Given the description of an element on the screen output the (x, y) to click on. 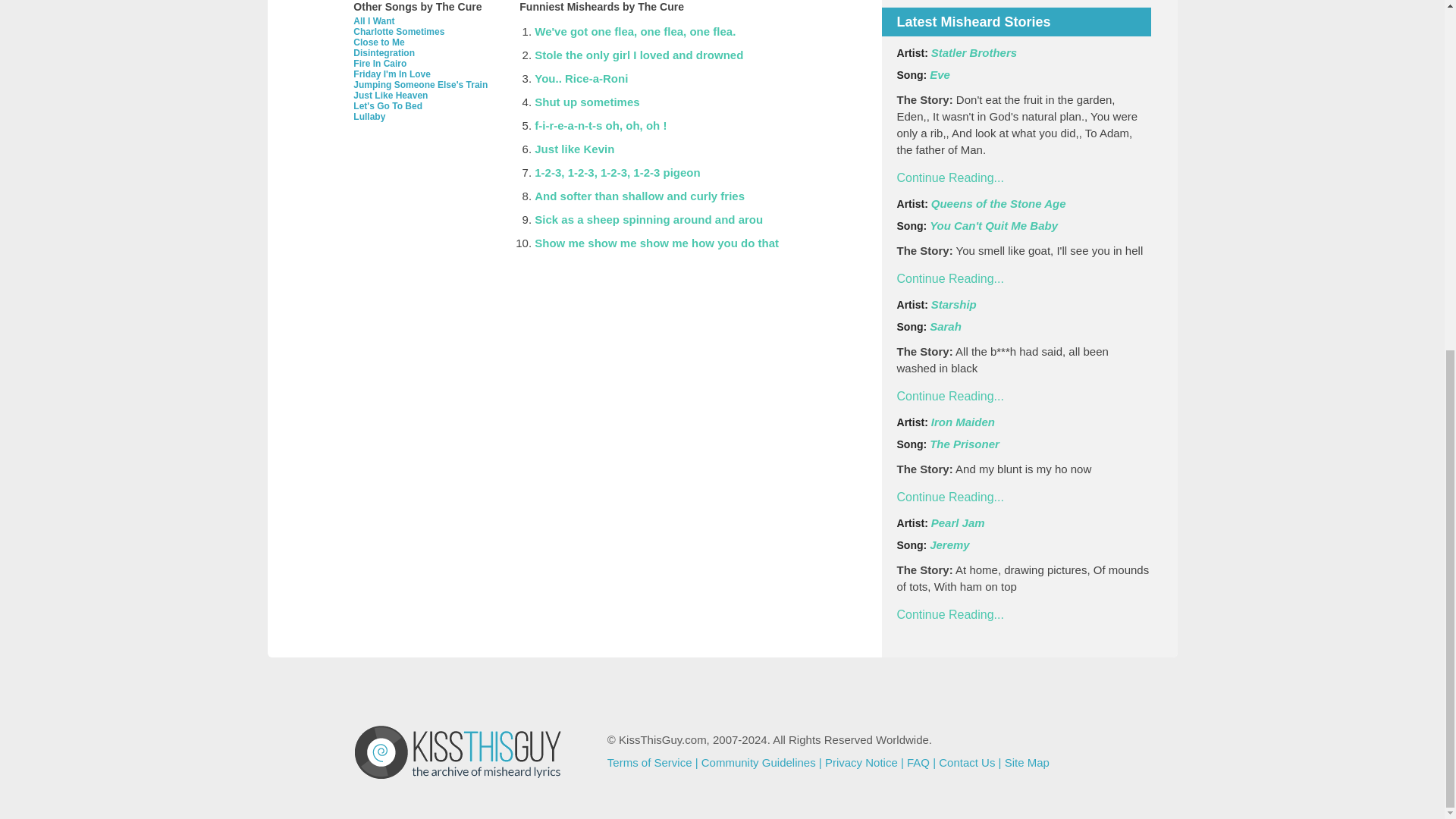
See misheard lyrics of Charlotte Sometimes by The Cure (398, 31)
See misheard lyrics of Let's Go To Bed by The Cure (387, 105)
See misheard lyrics of Fire In Cairo by The Cure (379, 63)
See misheard lyrics of Close to Me by The Cure (378, 41)
See misheard lyrics of All I Want by The Cure (373, 20)
See misheard lyrics of Disintegration by The Cure (383, 52)
See misheard lyrics of Friday I'm In Love by The Cure (391, 73)
See misheard lyrics of Just Like Heaven by The Cure (390, 95)
